Given the description of an element on the screen output the (x, y) to click on. 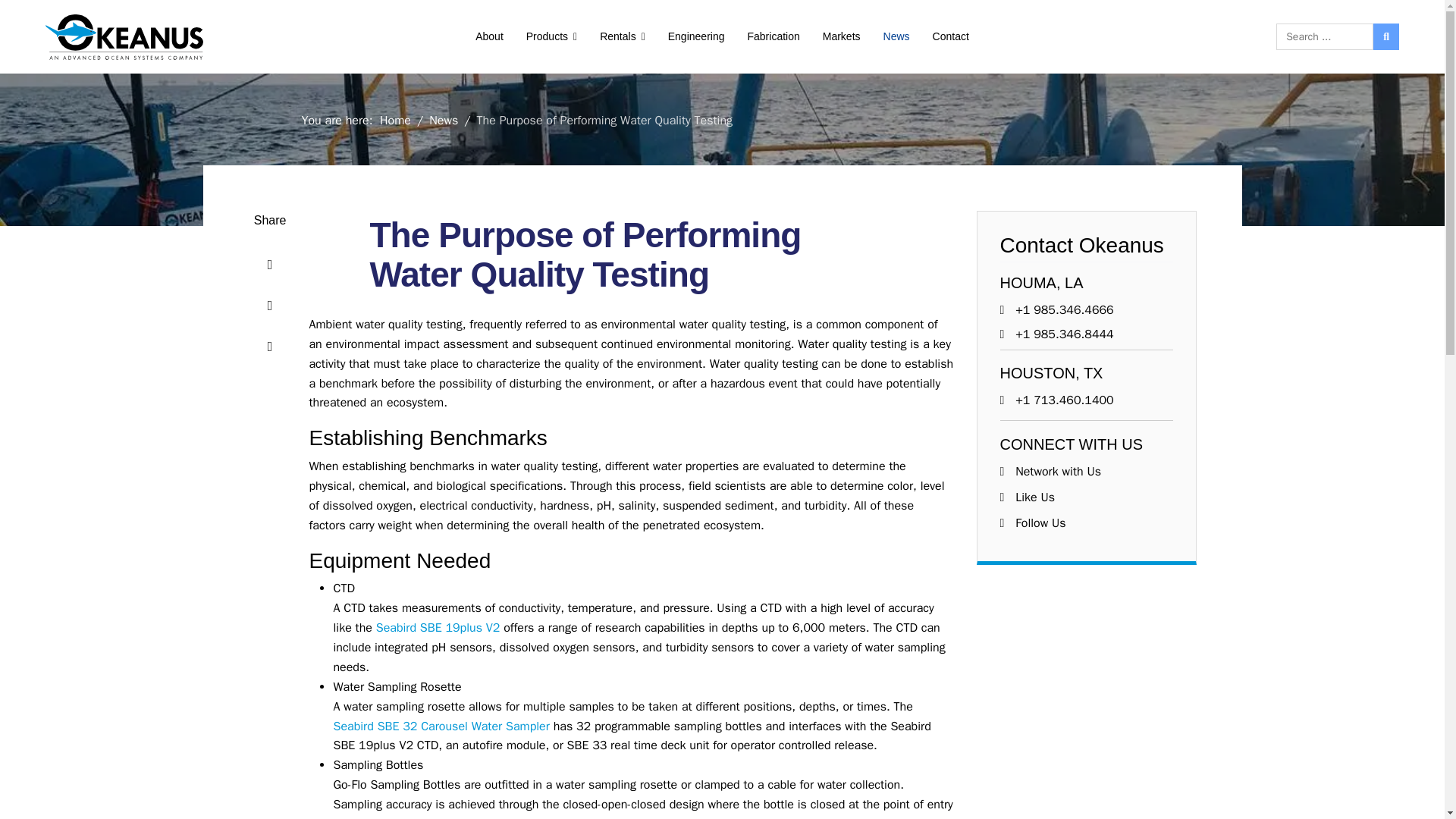
Rentals (622, 36)
Fabrication (772, 36)
Seabird SBE 32 Carousel Water Sampler (440, 726)
Engineering (696, 36)
News (443, 120)
Rentals (622, 36)
Products (551, 36)
Fabrication (772, 36)
Engineering (696, 36)
Seabird SBE 19plus V2 (437, 627)
Go (1386, 36)
Home (395, 120)
Products (551, 36)
